Given the description of an element on the screen output the (x, y) to click on. 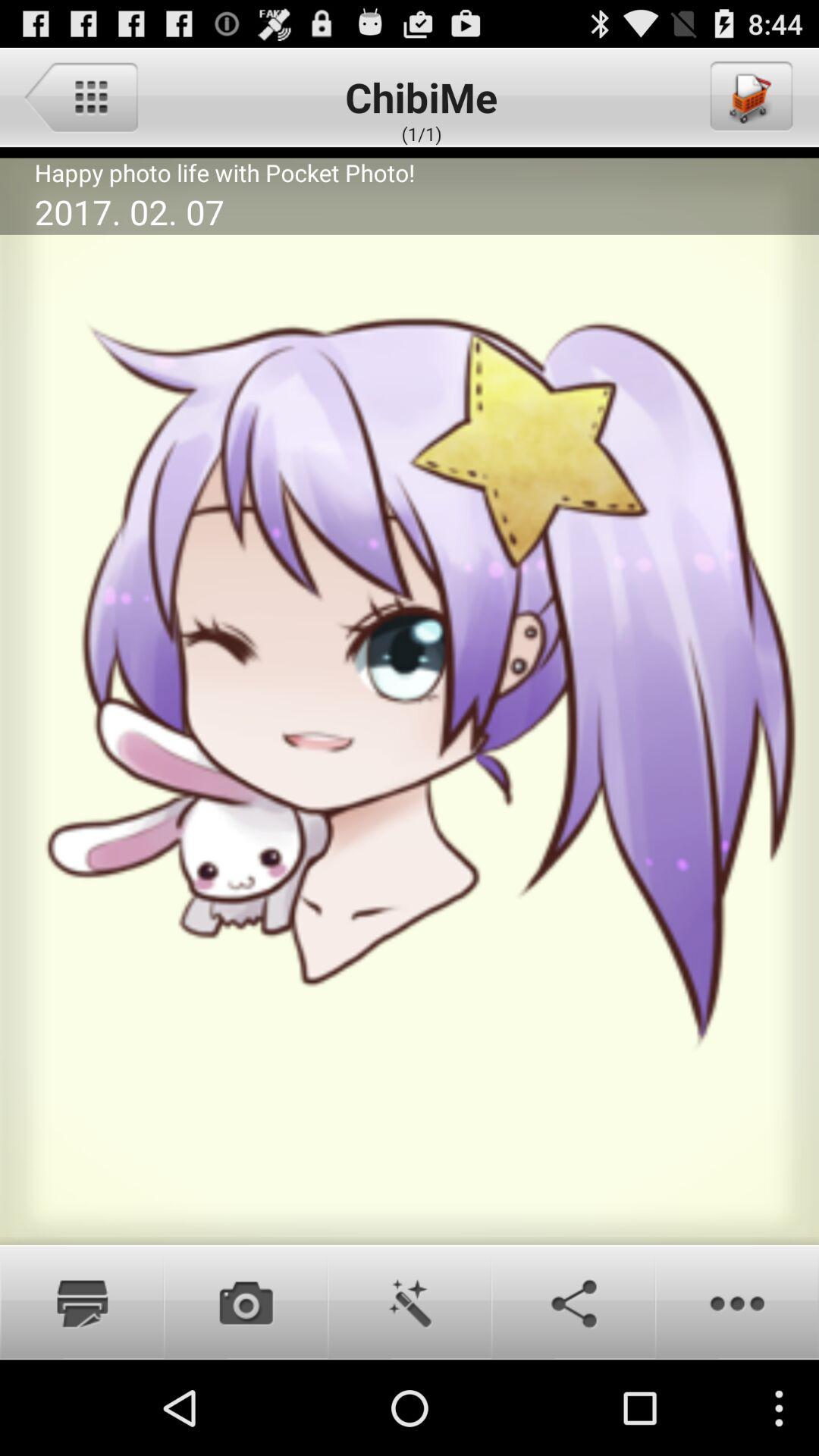
add to cart (749, 96)
